Given the description of an element on the screen output the (x, y) to click on. 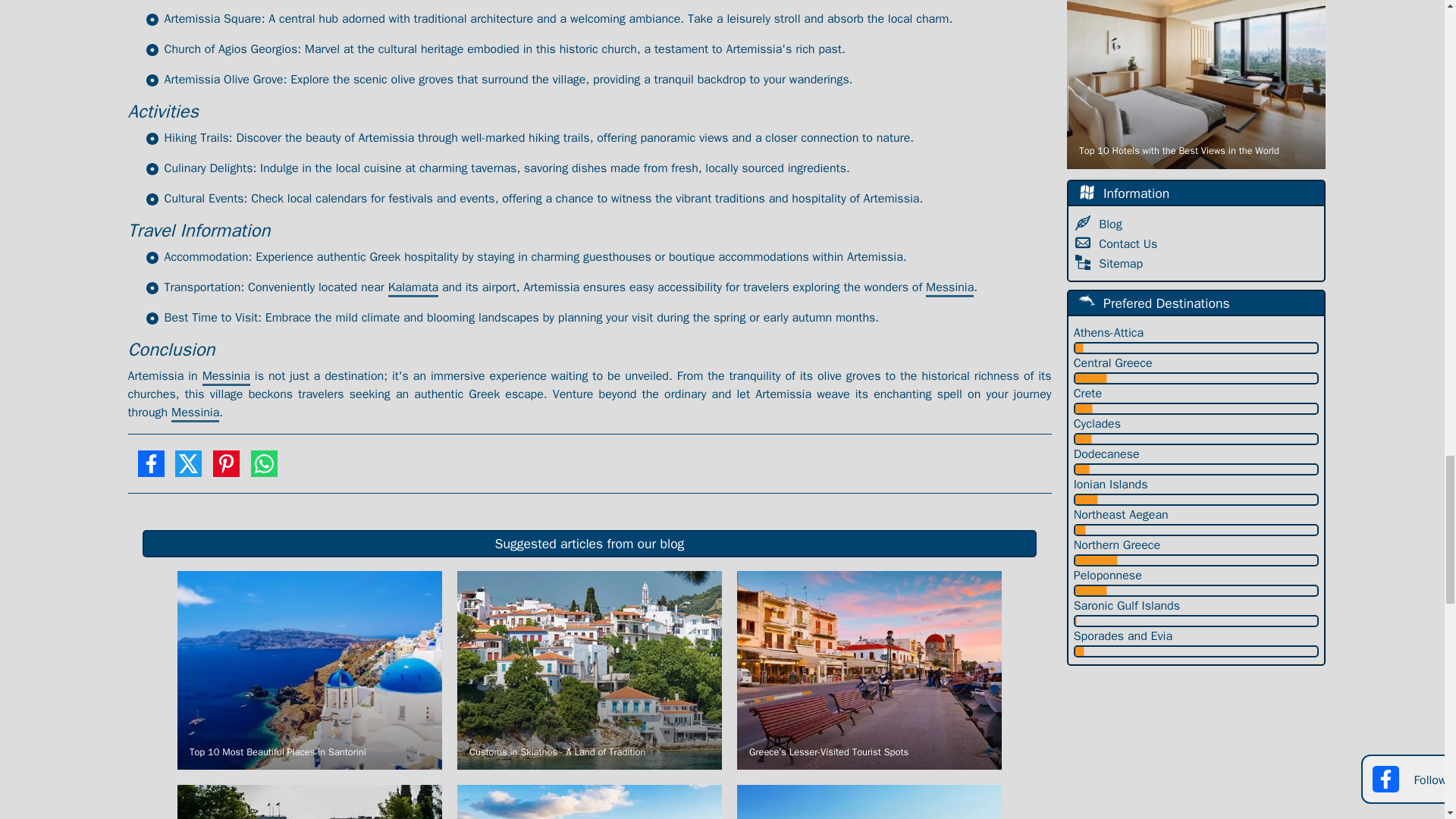
Top 10 of UNESCO Heritage Sites in Greece (589, 798)
Messinia (950, 288)
Top 10 of UNESCO Heritage Sites in Greece (589, 798)
Messinia (226, 376)
Messinia (195, 413)
6 Postcard-Perfect Greek Islands to Visit (869, 798)
Customs in Skiathos - A Land of Tradition (589, 670)
Top 10 Most Beautiful Places in Santorini (309, 670)
WhatsApp (264, 468)
Facebook (150, 468)
10 Things Not To Do In Greece (309, 798)
Kalamata (413, 288)
Customs in Skiathos - A Land of Tradition (589, 670)
Pinterest (226, 468)
Top 10 Hotels with the Best Views in the World (1195, 84)
